Given the description of an element on the screen output the (x, y) to click on. 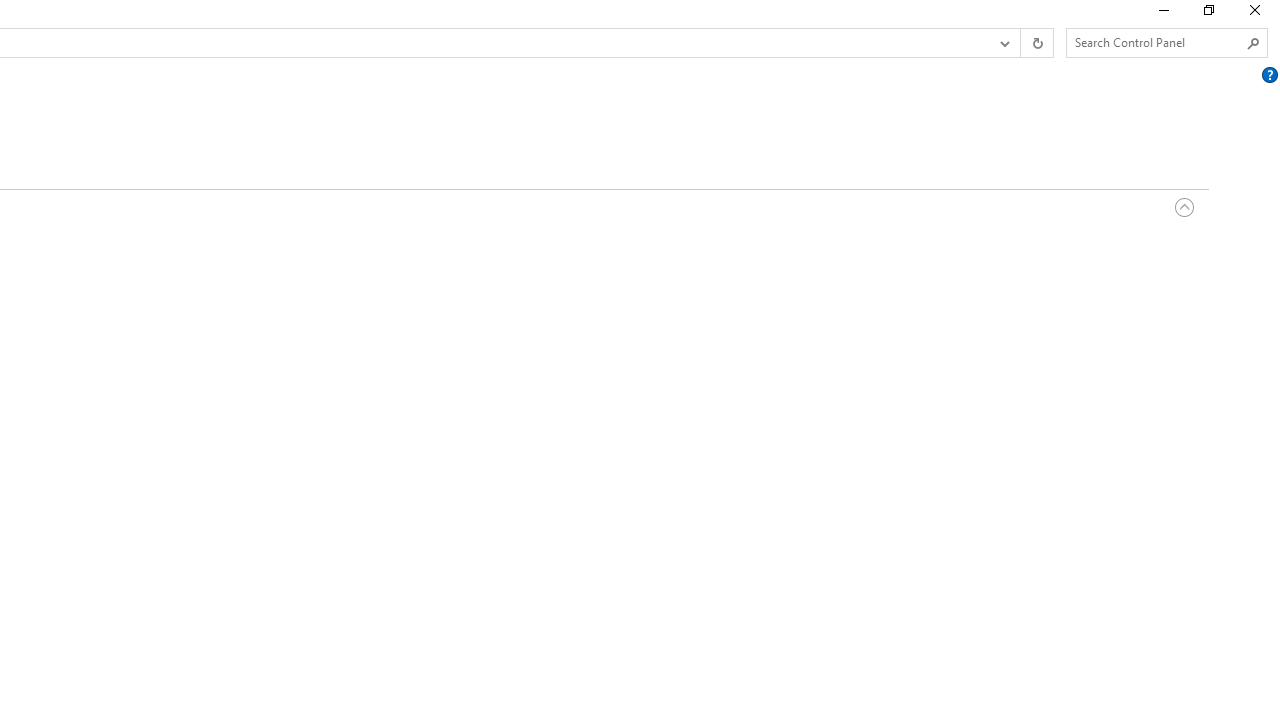
Search Box (1156, 42)
Minimize (1162, 14)
Previous Locations (1003, 43)
Search (1253, 43)
hubhelp (1269, 75)
Toggle Drives (1184, 207)
Restore (1208, 14)
Refresh "BitLocker Drive Encryption" (F5) (1036, 43)
Address band toolbar (1019, 43)
